Given the description of an element on the screen output the (x, y) to click on. 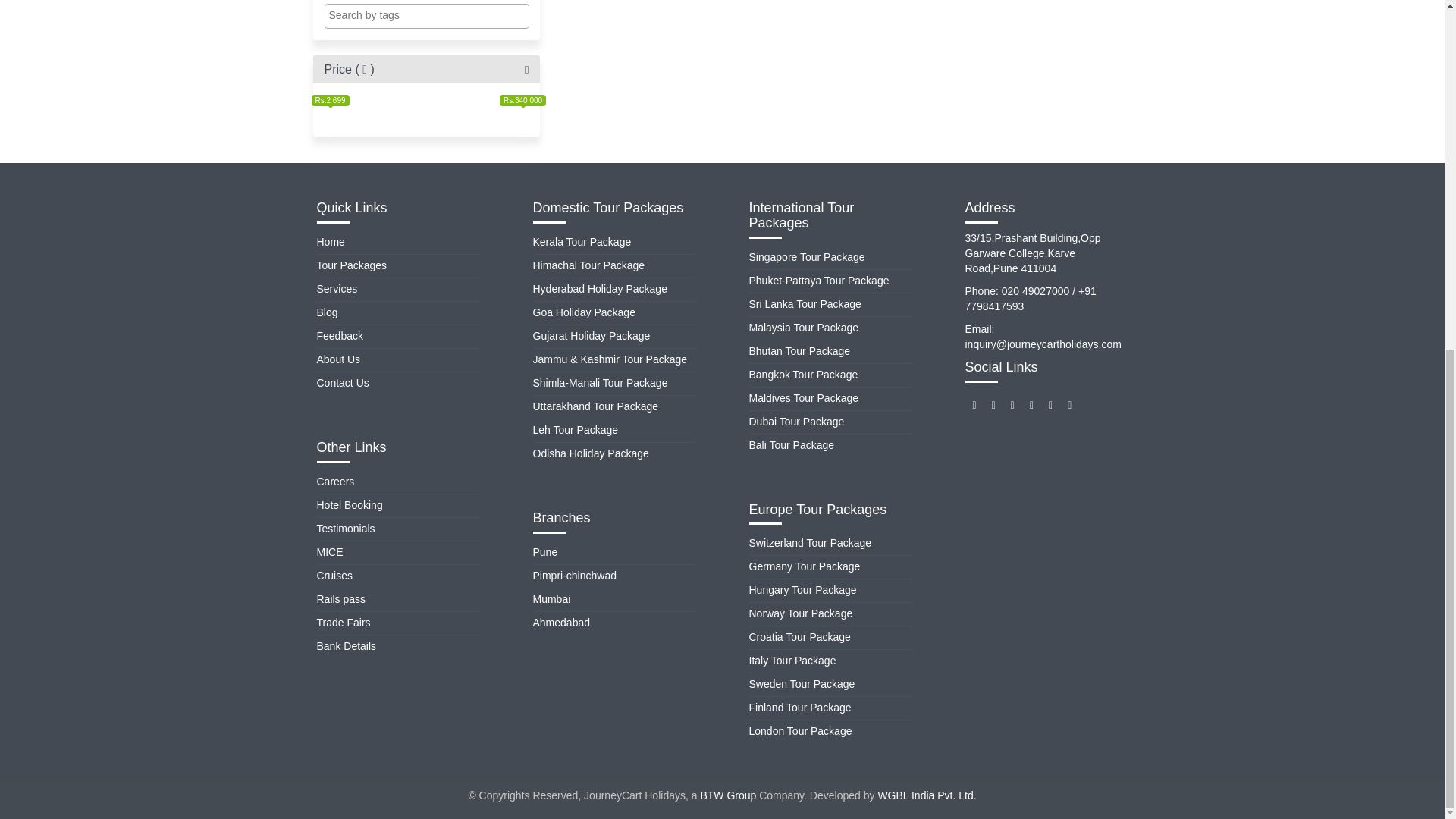
Home (331, 241)
home (331, 241)
Tour Packages (352, 265)
hotel booking (349, 504)
Tour packages (352, 265)
mice (330, 551)
contact us (343, 382)
blog (327, 312)
services (337, 288)
feedback (339, 336)
testimonials (346, 528)
about us (339, 358)
careers (336, 481)
